Given the description of an element on the screen output the (x, y) to click on. 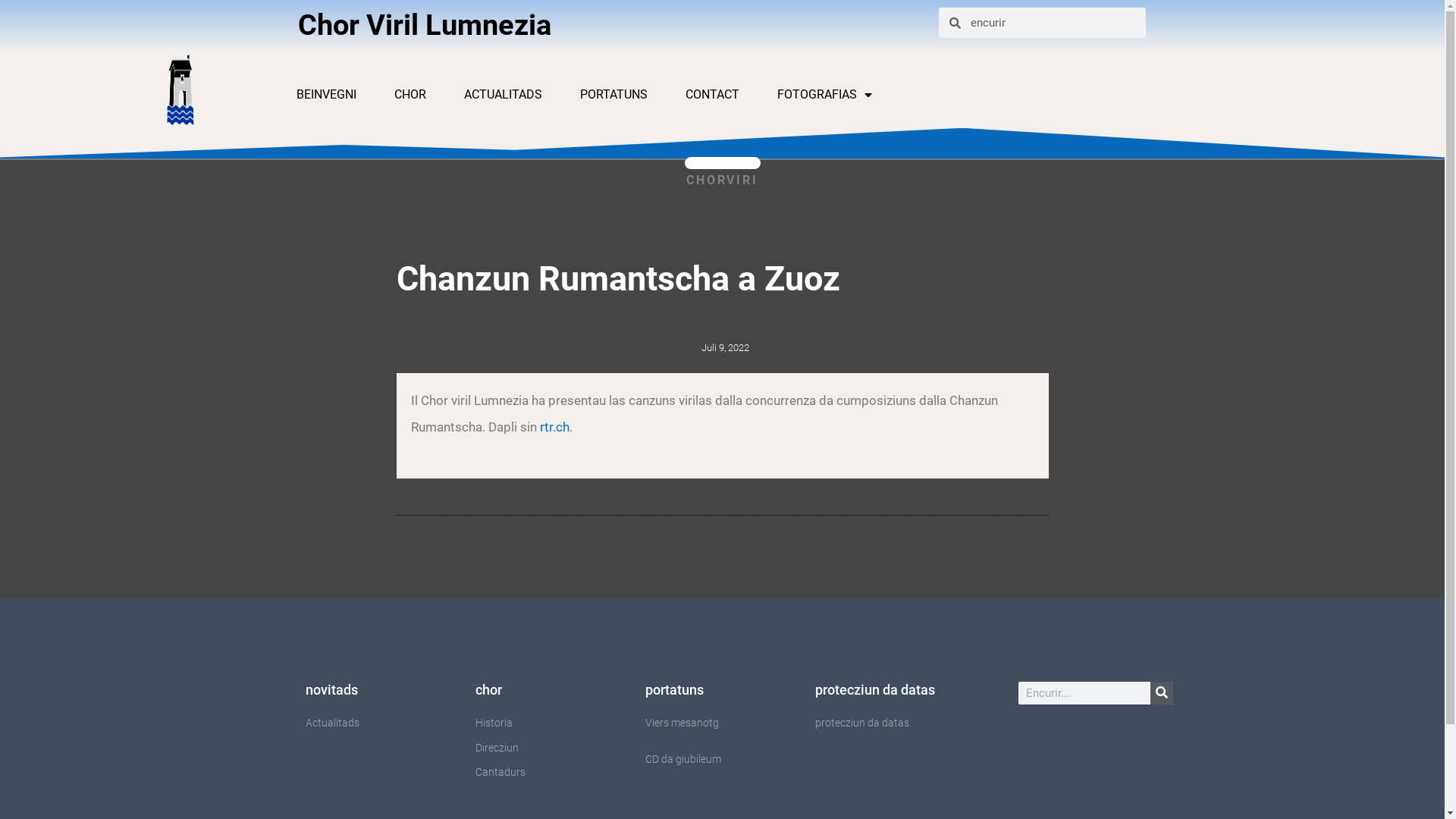
CONTACT Element type: text (712, 94)
Direcziun Element type: text (551, 747)
rtr.ch Element type: text (552, 426)
ACTUALITADS Element type: text (503, 94)
Search Element type: text (1161, 692)
PORTATUNS Element type: text (613, 94)
Actualitads Element type: text (381, 722)
Cantadurs Element type: text (551, 772)
chor Element type: text (487, 689)
protecziun da datas Element type: text (874, 689)
protecziun da datas Element type: text (891, 722)
portatuns Element type: text (673, 689)
CHOR Element type: text (410, 94)
Historia Element type: text (551, 722)
Juli 9, 2022 Element type: text (722, 346)
FOTOGRAFIAS Element type: text (824, 94)
BEINVEGNI Element type: text (326, 94)
